Given the description of an element on the screen output the (x, y) to click on. 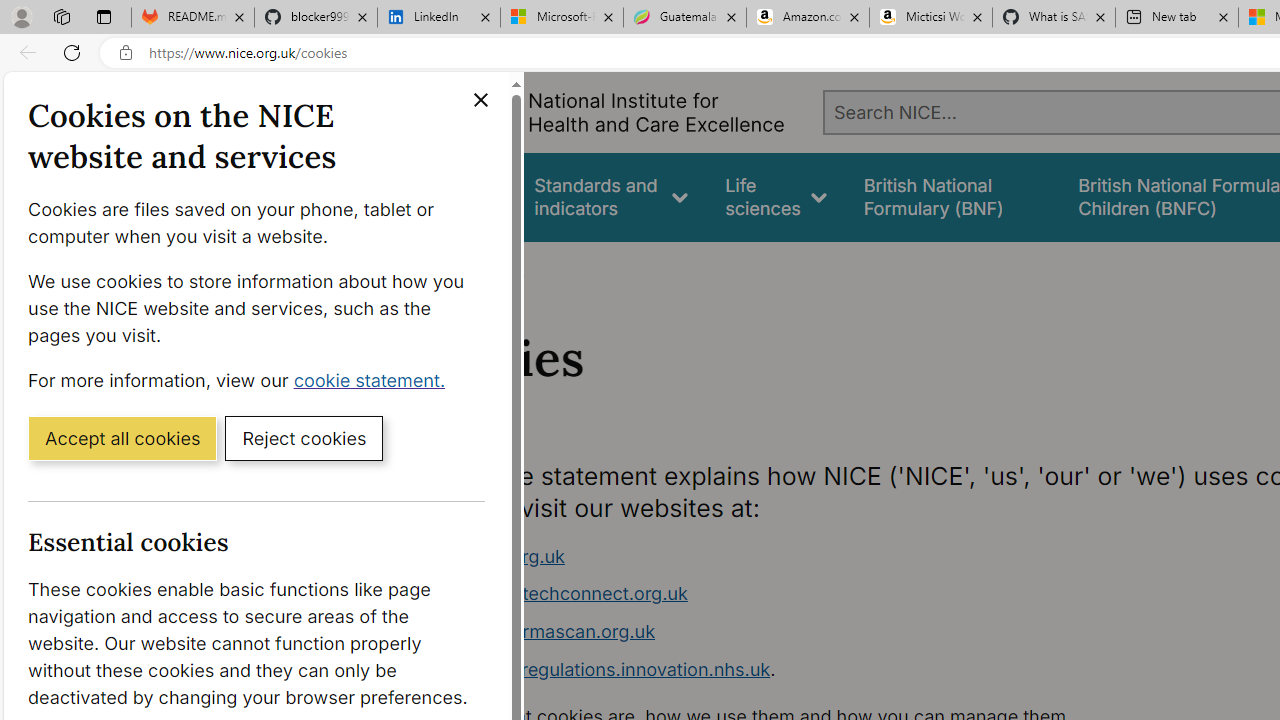
Reject cookies (304, 437)
LinkedIn (438, 17)
www.ukpharmascan.org.uk (538, 631)
Life sciences (776, 196)
www.healthtechconnect.org.uk (796, 594)
cookie statement. (Opens in a new window) (373, 379)
